Given the description of an element on the screen output the (x, y) to click on. 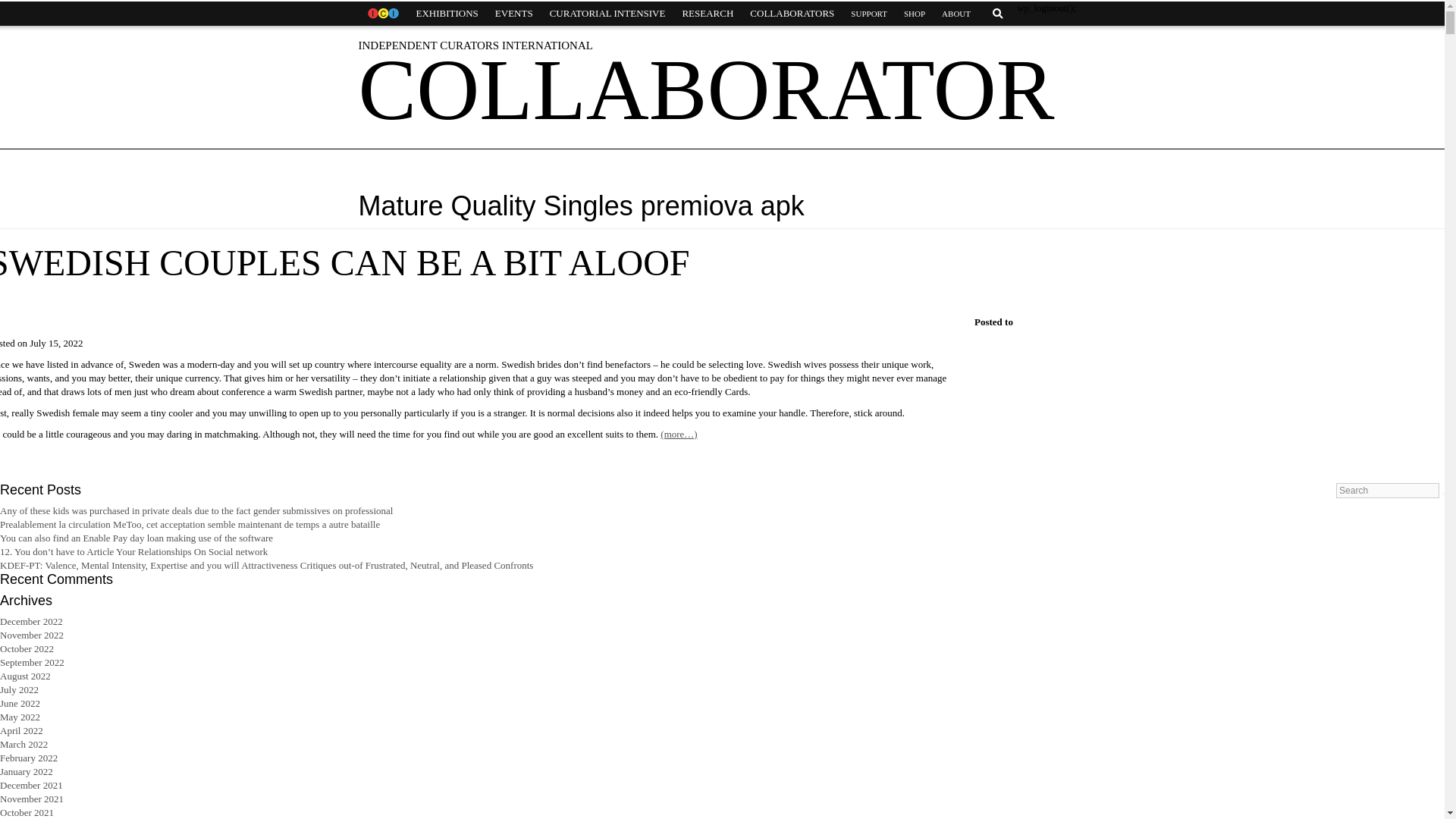
EXHIBITIONS (446, 13)
CURATORIAL INTENSIVE (607, 13)
RESEARCH (706, 13)
COLLABORATORS (792, 13)
EVENTS (513, 13)
HOME (382, 13)
